Given the description of an element on the screen output the (x, y) to click on. 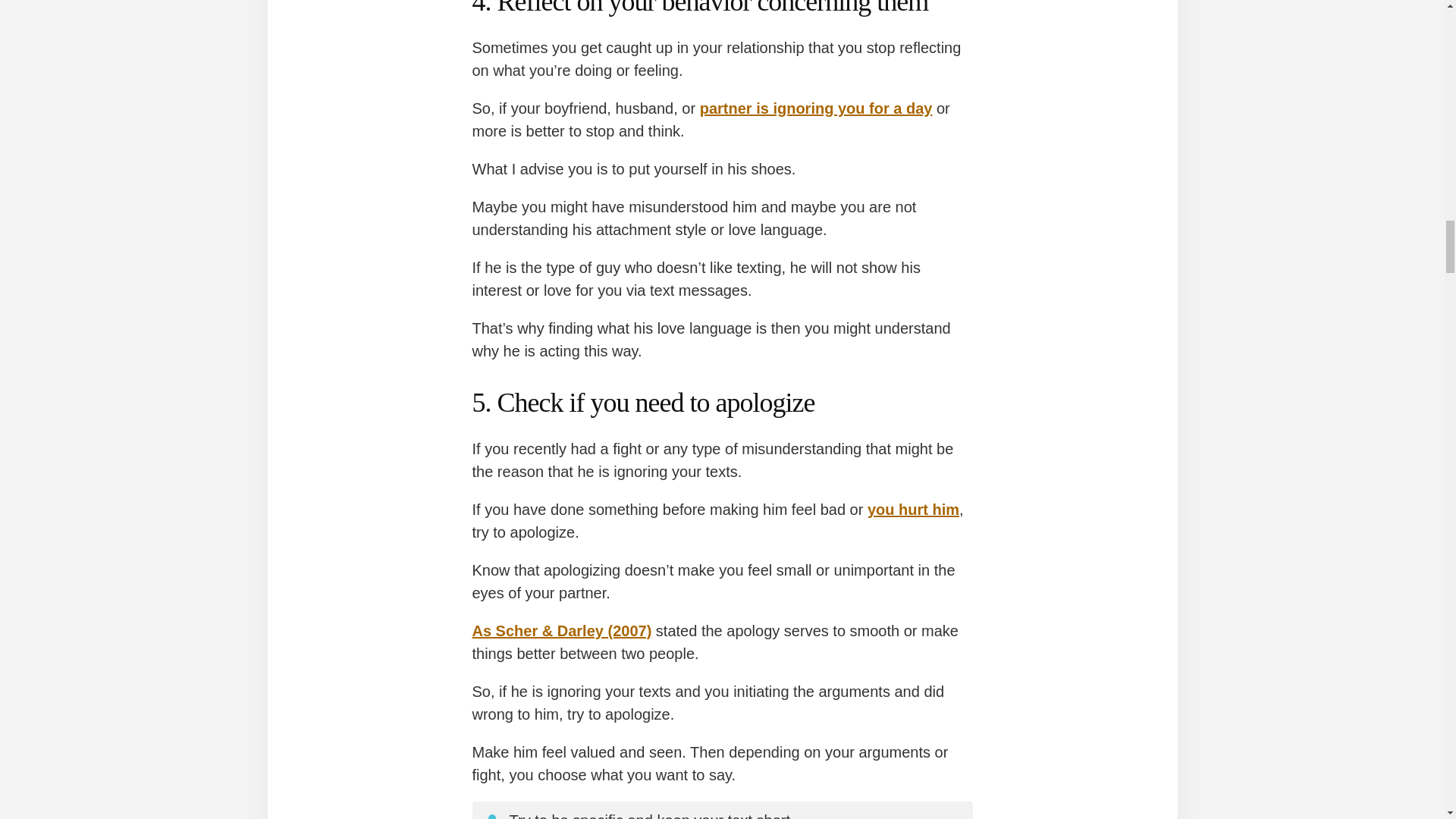
partner is ignoring you for a day (816, 108)
you hurt him (913, 509)
